Given the description of an element on the screen output the (x, y) to click on. 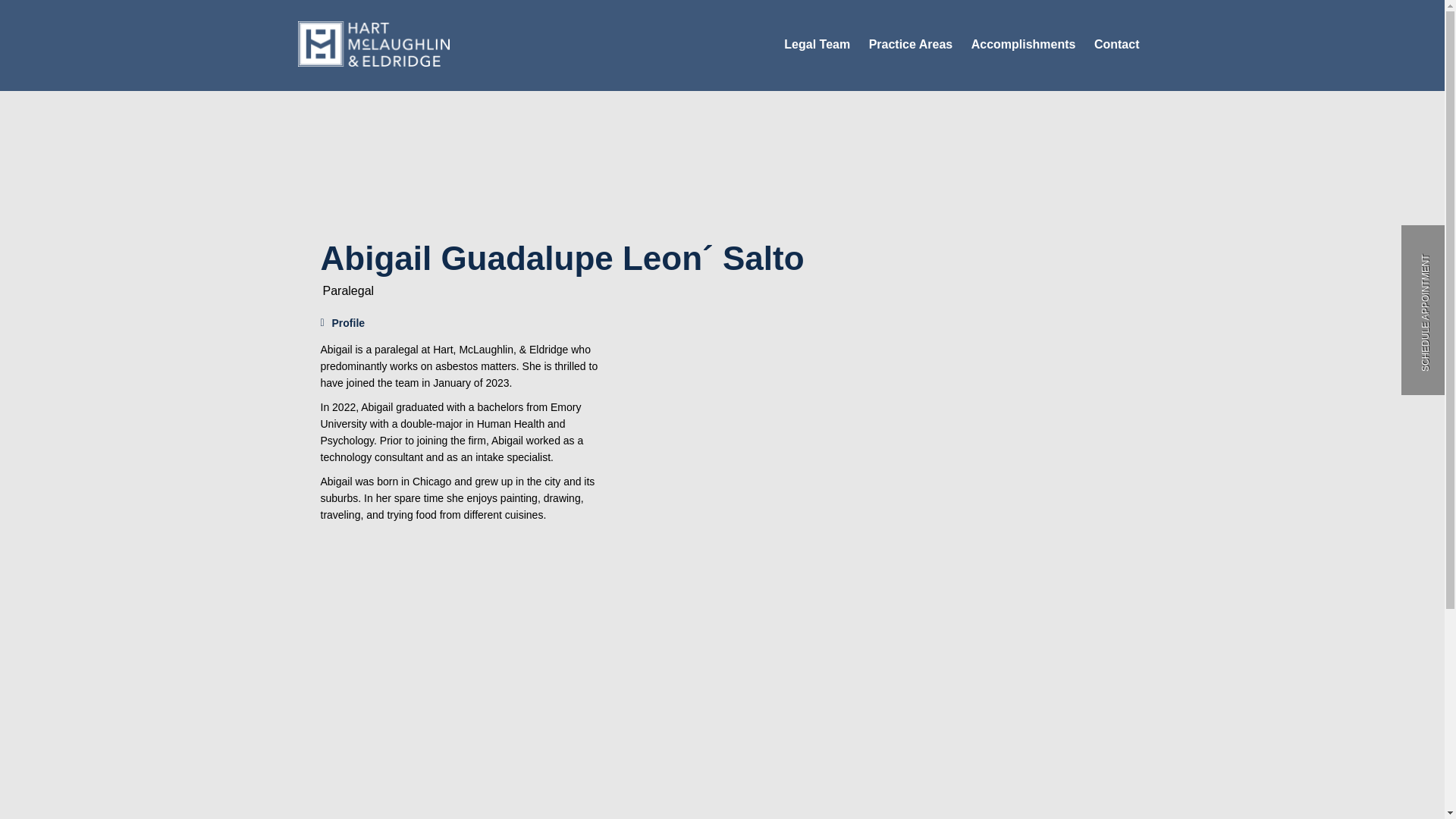
Legal Team (817, 43)
Accomplishments (1023, 43)
Profile (342, 322)
Contact (1117, 43)
Practice Areas (911, 43)
